Given the description of an element on the screen output the (x, y) to click on. 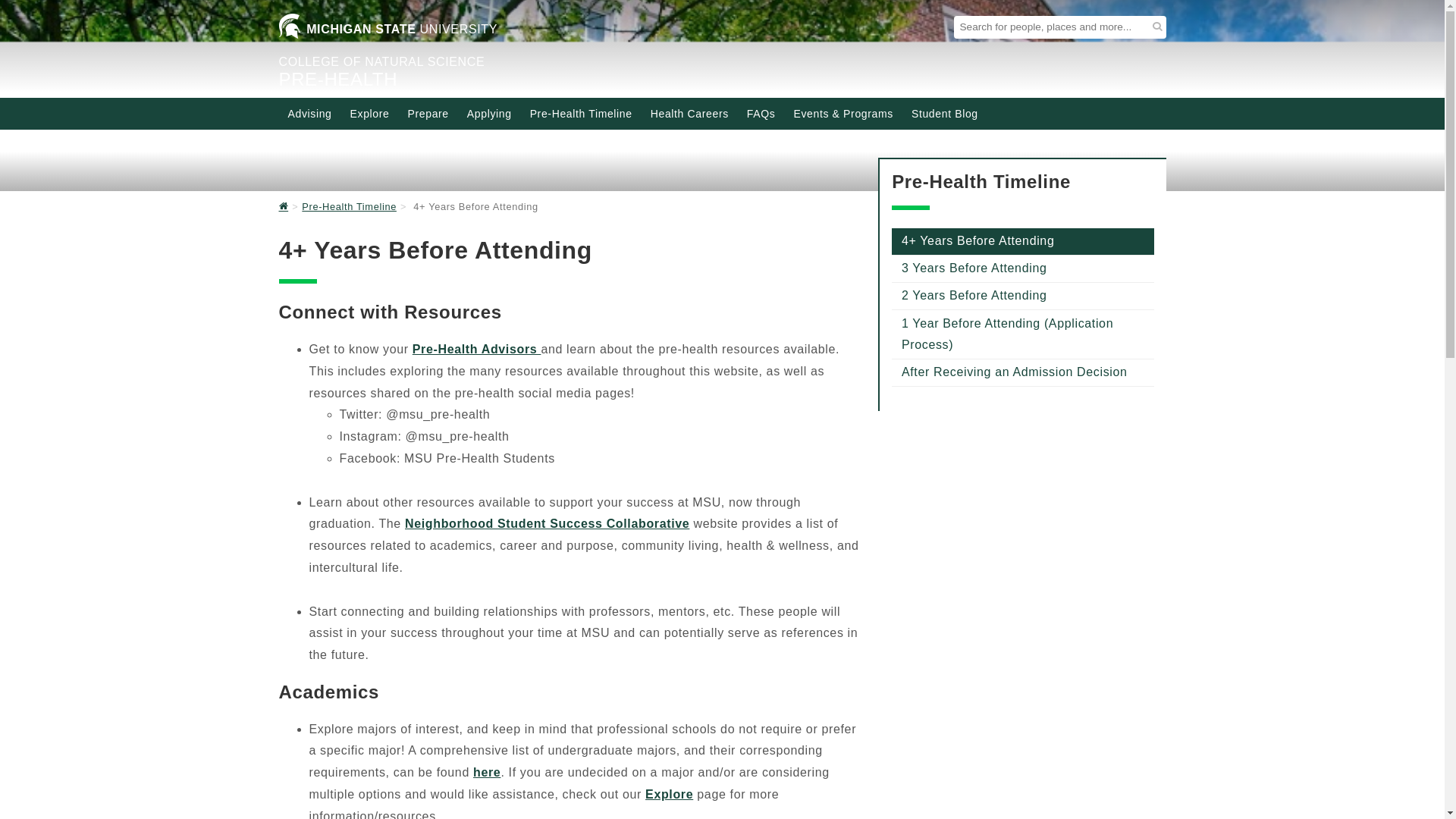
Pre-Health Timeline (581, 113)
Health Careers (690, 113)
here (486, 771)
PRE-HEALTH (338, 78)
MICHIGAN STATE UNIVERSITY (388, 32)
Prepare (428, 113)
3 Years Before Attending (1022, 268)
Applying (489, 113)
2 Years Before Attending (1022, 295)
Student Blog (944, 113)
